Given the description of an element on the screen output the (x, y) to click on. 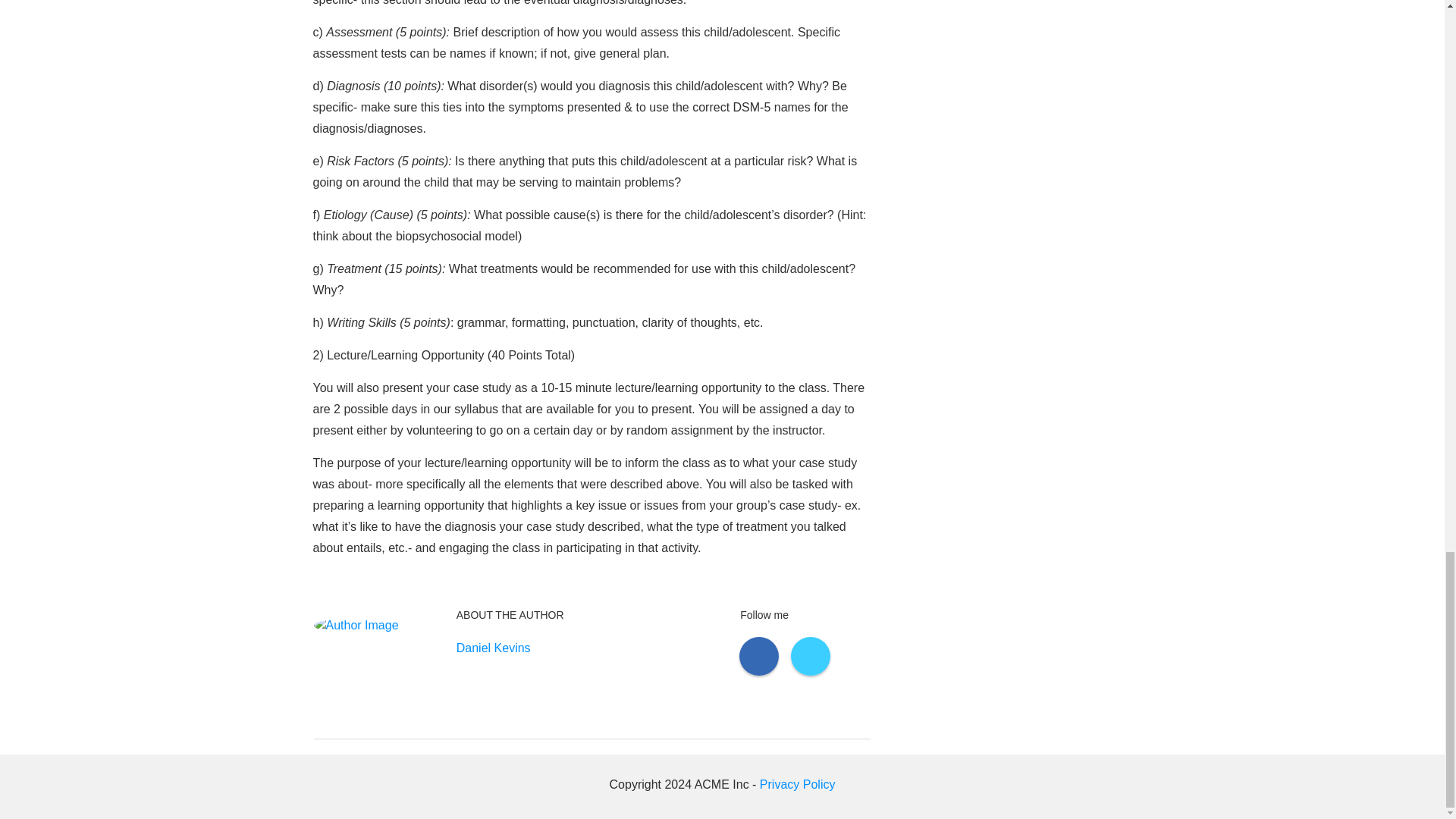
Daniel Kevins (494, 647)
Privacy Policy (797, 784)
